Given the description of an element on the screen output the (x, y) to click on. 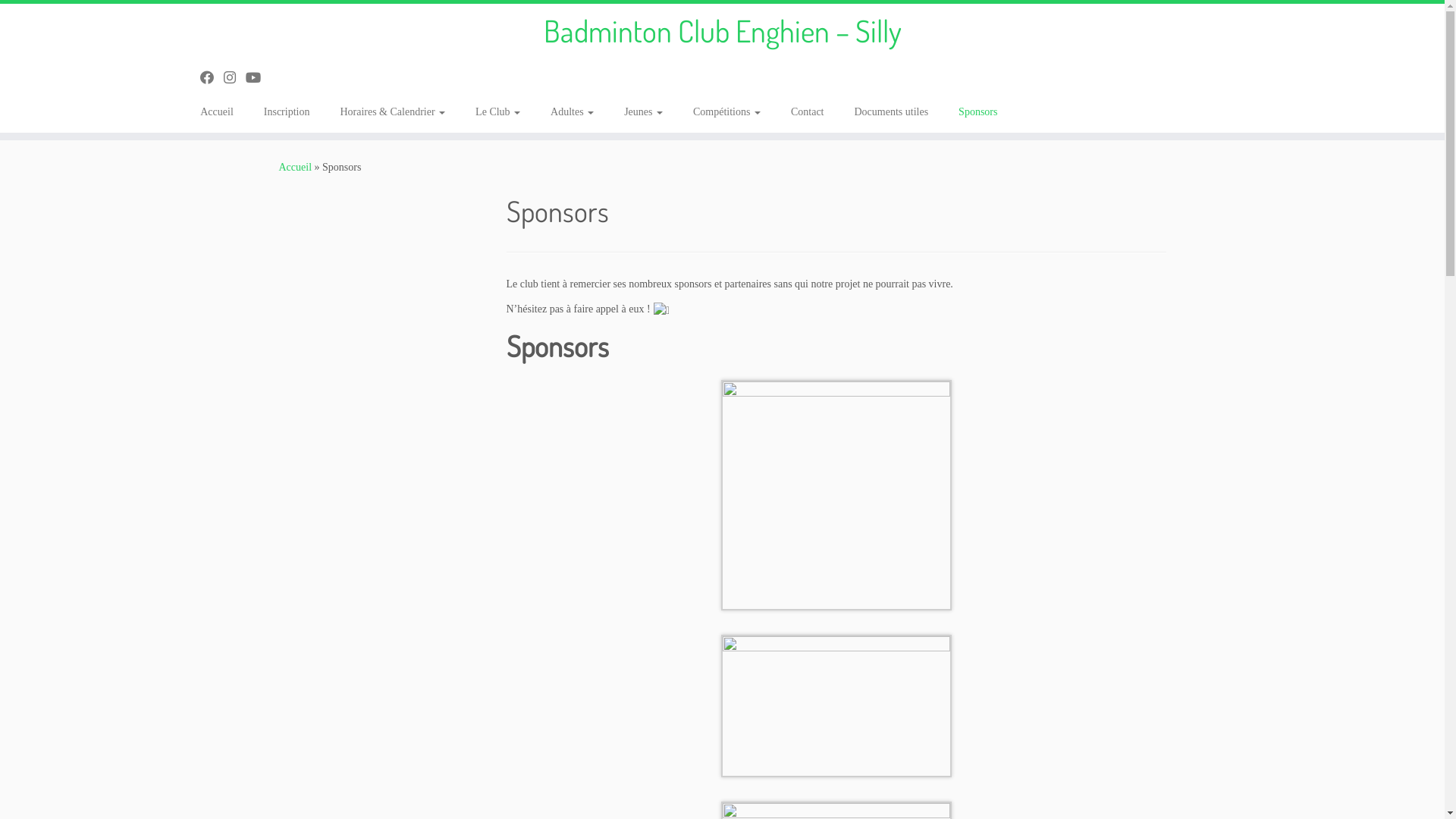
Suivez-nous sur Instagram Element type: hover (234, 77)
Contact Element type: text (807, 112)
Suivez-moi sur Facebook Element type: hover (211, 77)
Adultes Element type: text (571, 112)
Documents utiles Element type: text (890, 112)
Cosoptique Element type: hover (835, 704)
Accueil Element type: text (222, 112)
Suivez-moi sur Youtube Element type: hover (257, 77)
Horaires & Calendrier Element type: text (392, 112)
Jeunes Element type: text (642, 112)
Sponsors Element type: text (977, 112)
Inscription Element type: text (286, 112)
LOGOERIMA Element type: hover (835, 493)
Accueil Element type: text (295, 166)
Le Club Element type: text (497, 112)
